Given the description of an element on the screen output the (x, y) to click on. 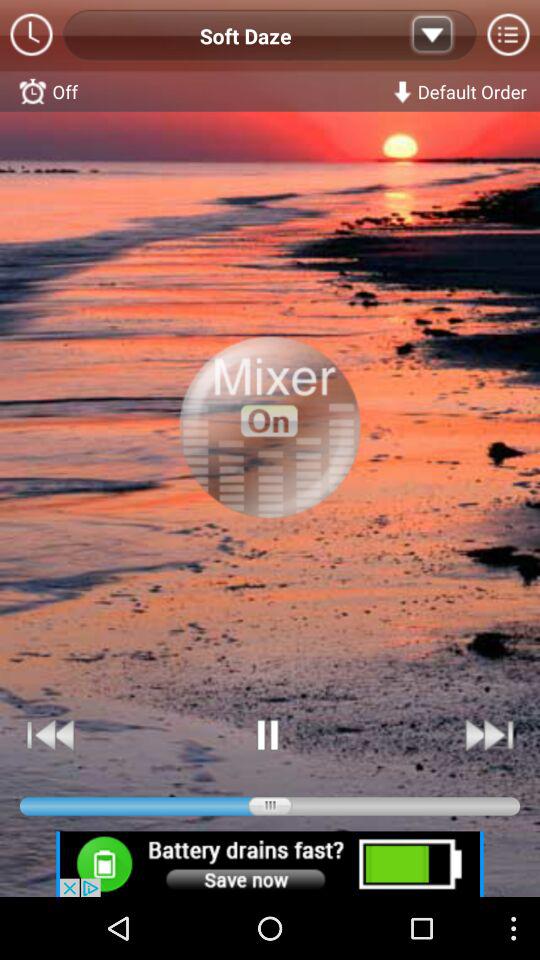
skip forward (488, 734)
